Given the description of an element on the screen output the (x, y) to click on. 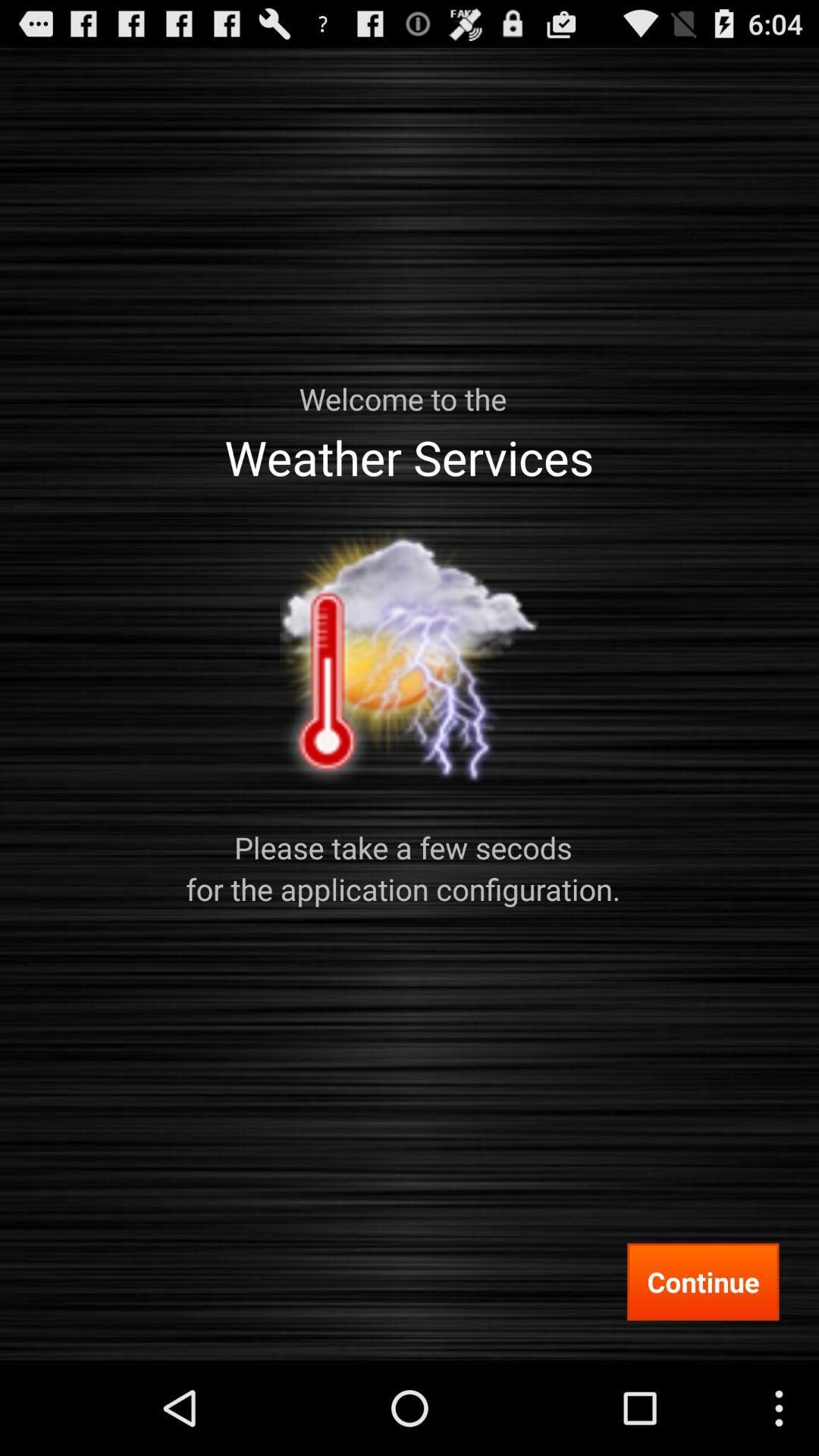
launch continue item (703, 1281)
